Given the description of an element on the screen output the (x, y) to click on. 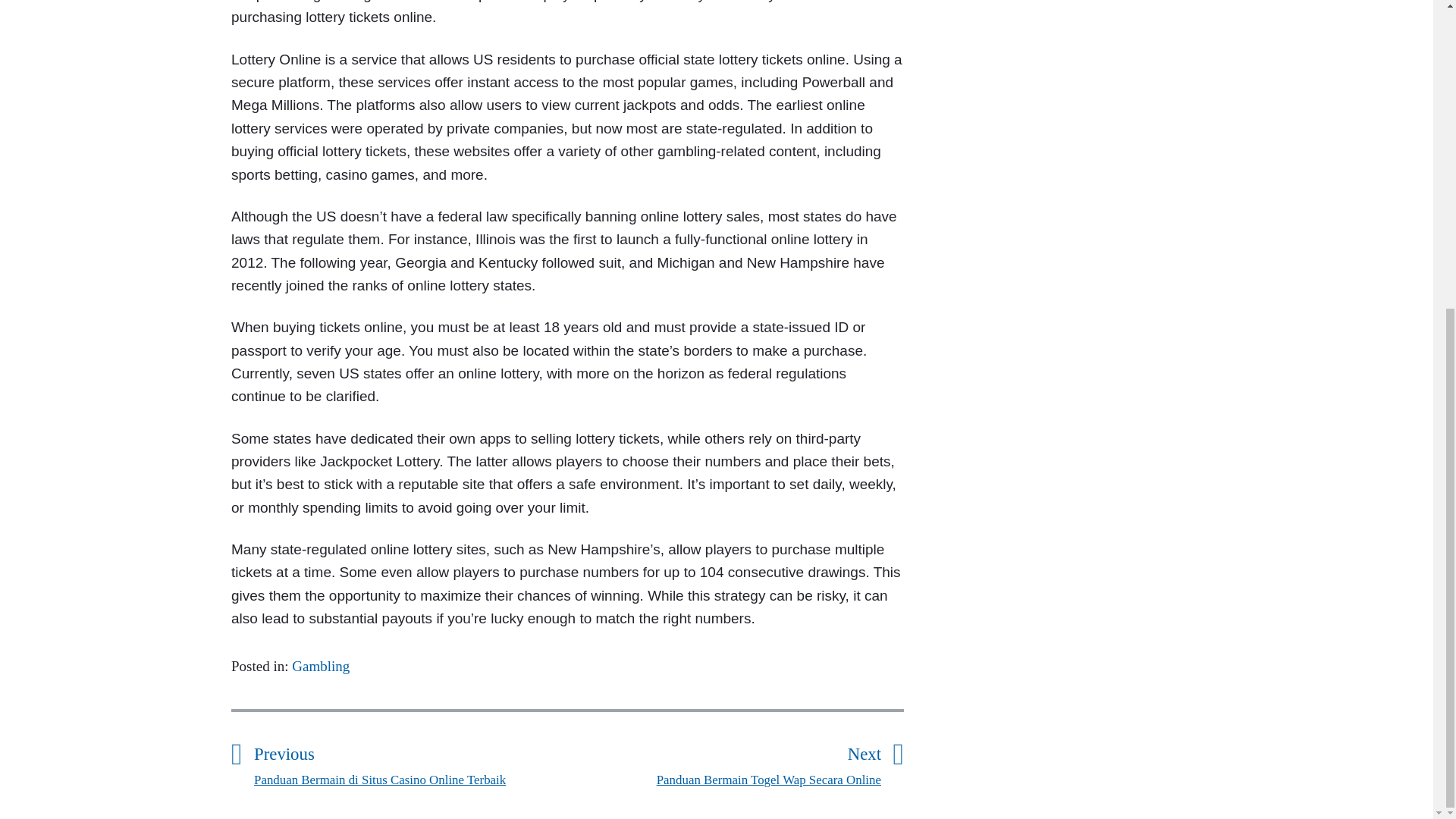
Gambling (320, 666)
